Given the description of an element on the screen output the (x, y) to click on. 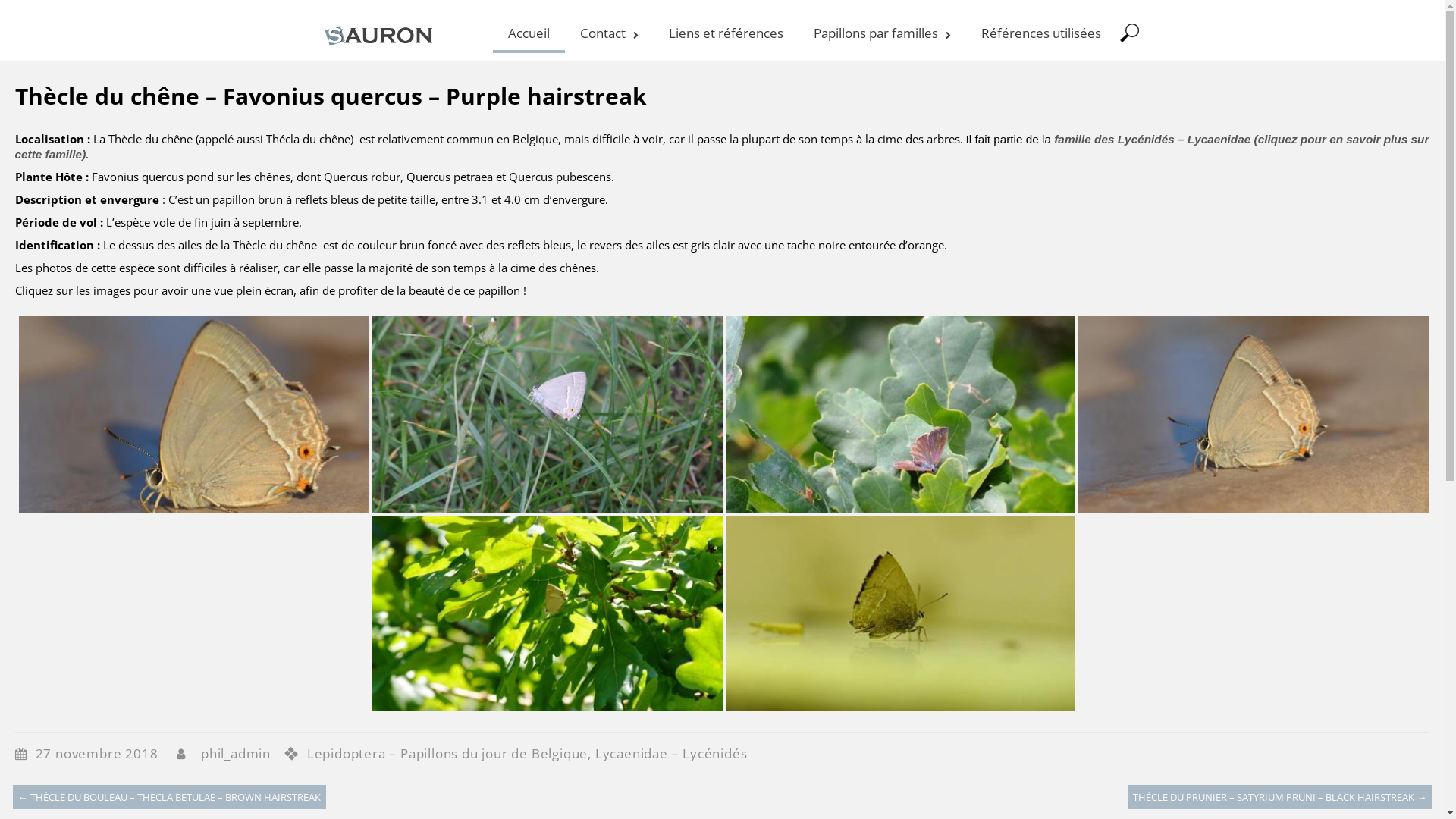
Contact Element type: text (608, 31)
Papillons Belgique Element type: hover (380, 45)
phil_admin Element type: text (235, 753)
Accueil Element type: text (528, 31)
27 novembre 2018 Element type: text (104, 753)
Papillons par familles Element type: text (881, 31)
